Given the description of an element on the screen output the (x, y) to click on. 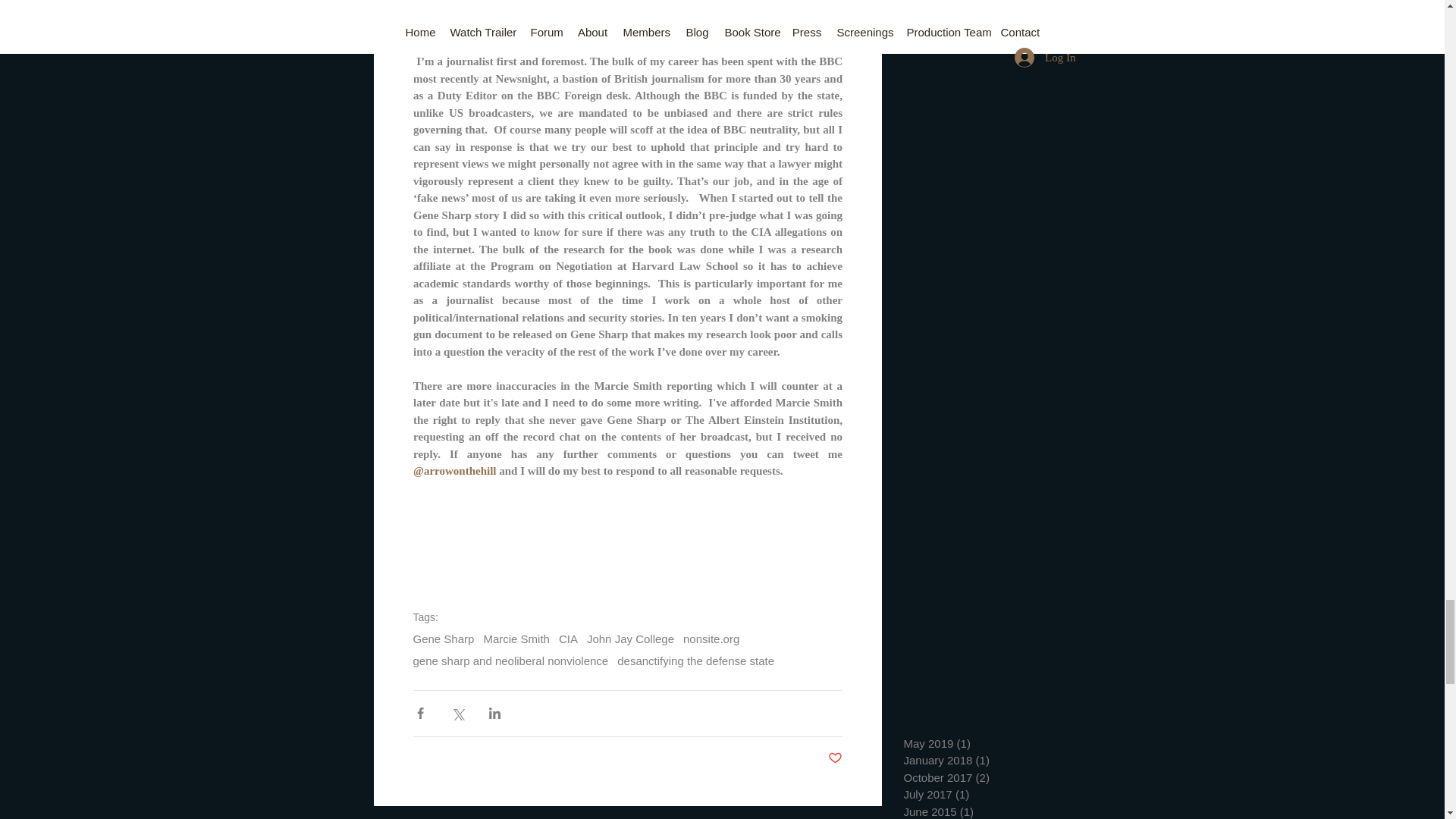
John Jay College (630, 638)
desanctifying the defense state (695, 660)
gene sharp and neoliberal nonviolence (510, 660)
CIA (568, 638)
Gene Sharp (443, 638)
nonsite.org (710, 638)
Marcie Smith (516, 638)
Post not marked as liked (835, 758)
